Given the description of an element on the screen output the (x, y) to click on. 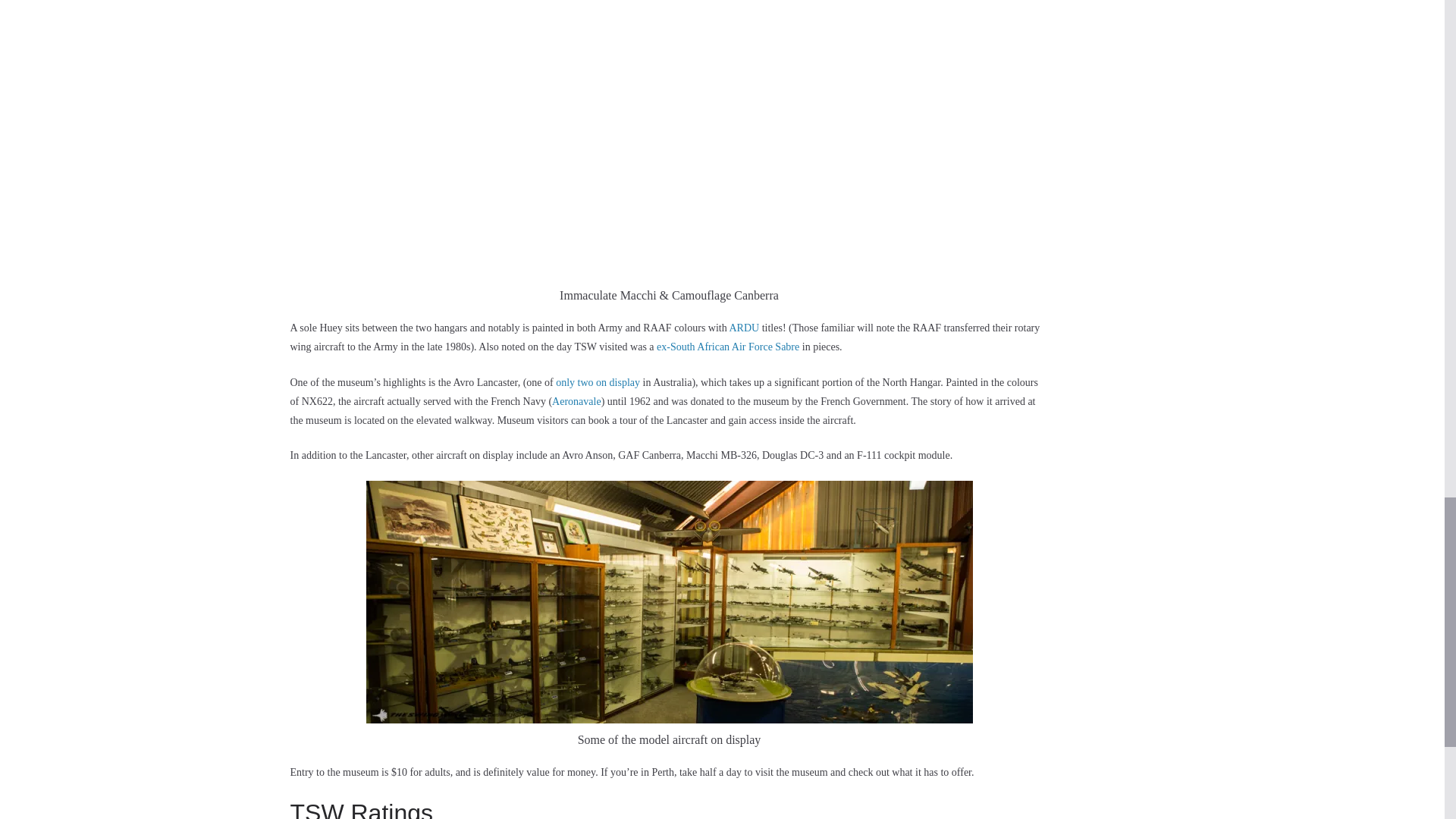
only two on display (598, 382)
ARDU (743, 327)
Aeronavale (576, 401)
ex-South African Air Force Sabre (727, 346)
